Given the description of an element on the screen output the (x, y) to click on. 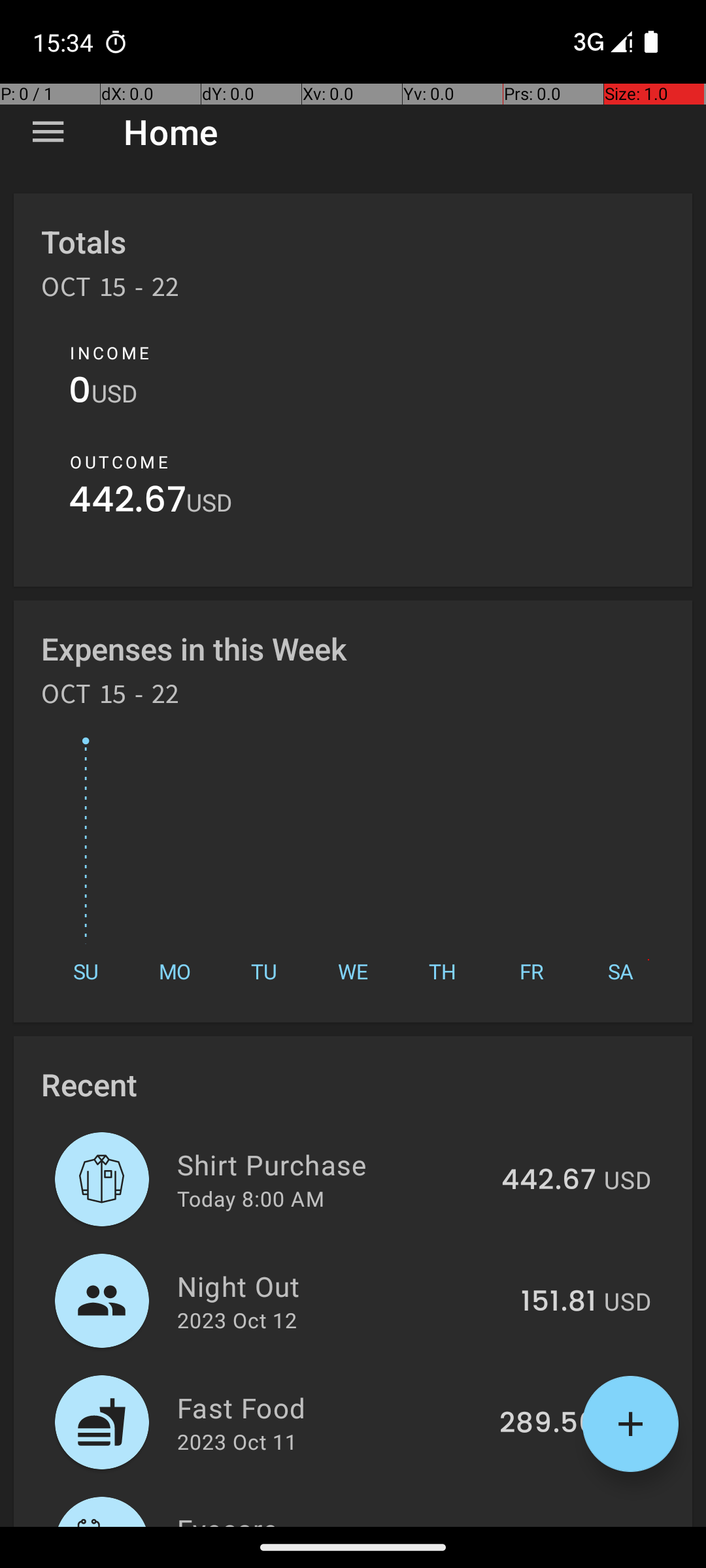
442.67 Element type: android.widget.TextView (127, 502)
Today 8:00 AM Element type: android.widget.TextView (250, 1198)
Night Out Element type: android.widget.TextView (341, 1285)
151.81 Element type: android.widget.TextView (558, 1301)
Fast Food Element type: android.widget.TextView (330, 1407)
289.56 Element type: android.widget.TextView (547, 1423)
88.17 Element type: android.widget.TextView (560, 1524)
